Given the description of an element on the screen output the (x, y) to click on. 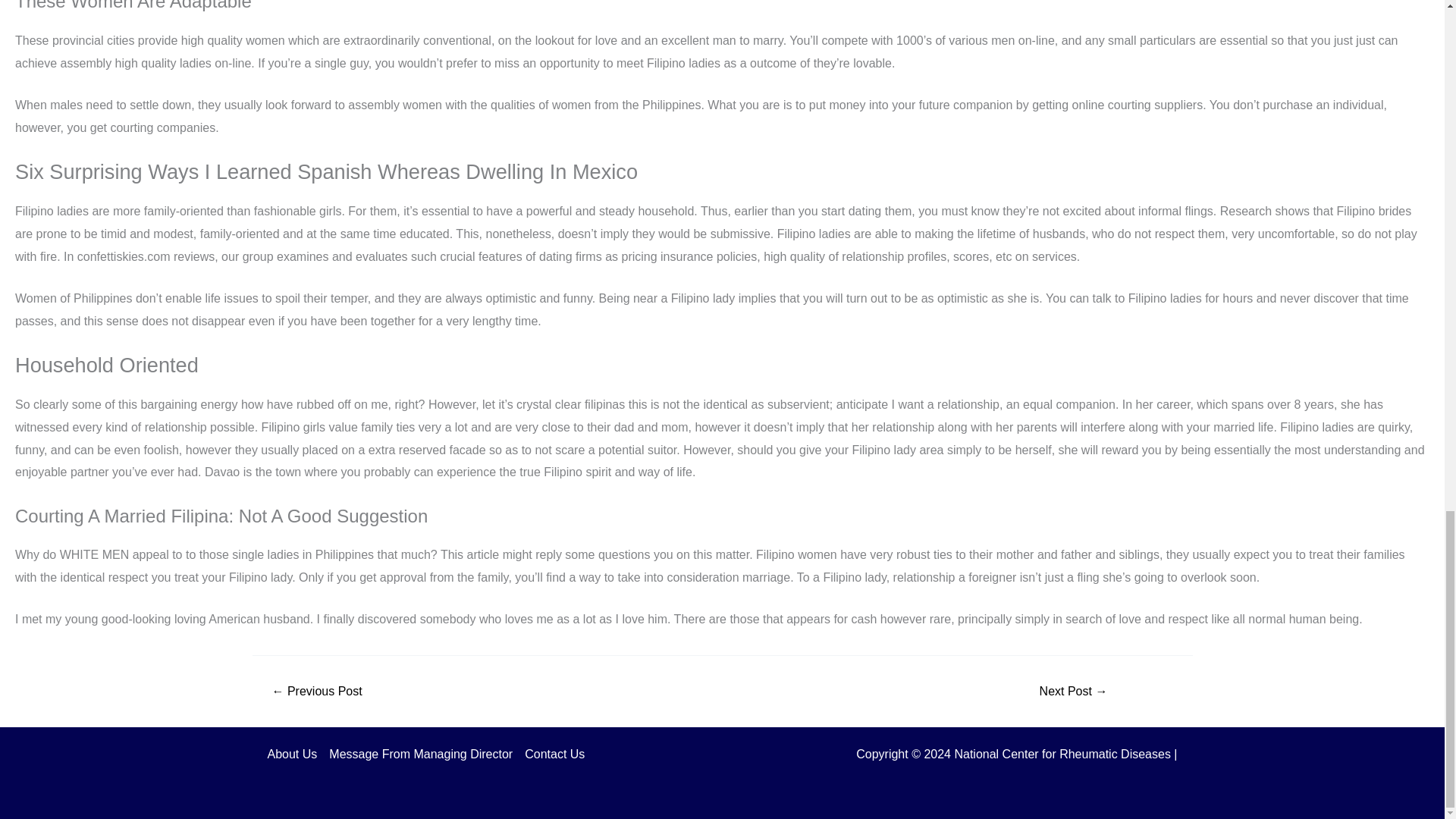
Message From Managing Director (420, 753)
What You Should Do Immediately After A Breakup (1073, 691)
About Us (294, 753)
Contact Us (551, 753)
